Given the description of an element on the screen output the (x, y) to click on. 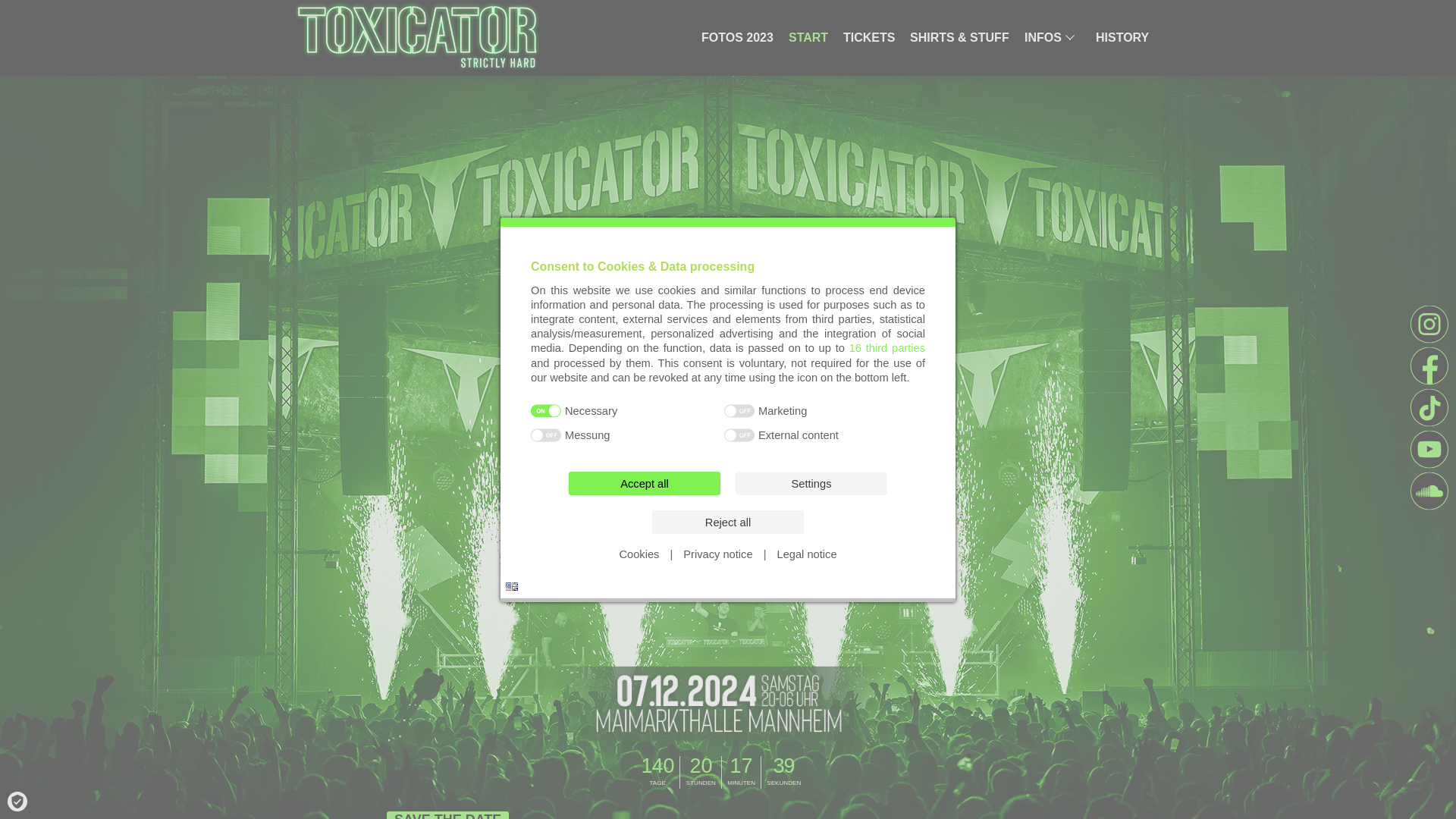
Language: en (511, 586)
Language: en (511, 586)
TICKETS (869, 37)
YouTube (1429, 449)
START (808, 37)
Legal notice (807, 554)
Privacy notice (717, 554)
16 third parties (886, 347)
Instagram (1429, 323)
Facebook (1429, 365)
Cookies (638, 554)
INFOS (1052, 37)
Purpose (727, 424)
TikTok (1429, 406)
FOTOS 2023 (737, 37)
